Given the description of an element on the screen output the (x, y) to click on. 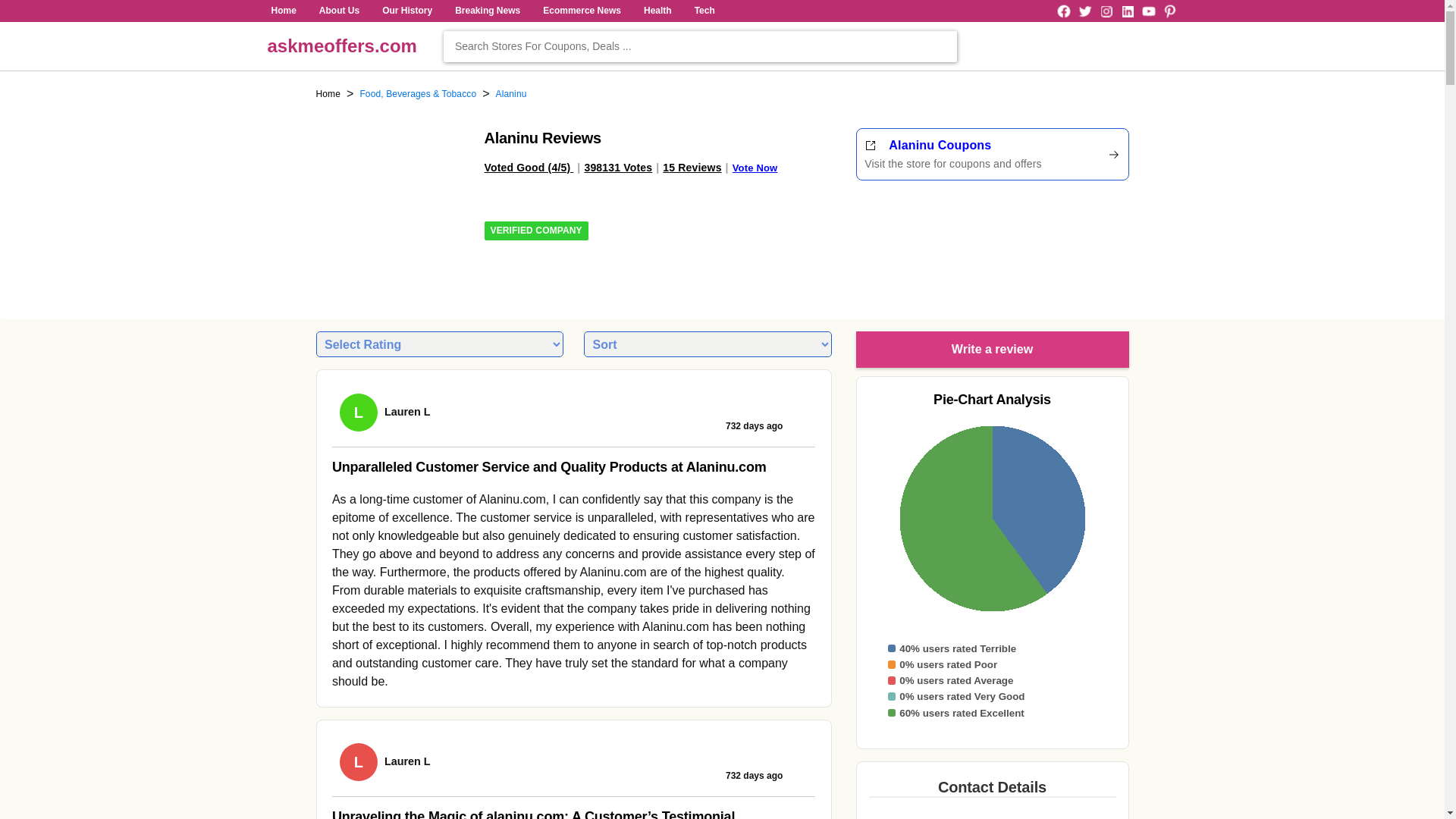
Health (657, 10)
Twitter Username (1084, 11)
LinkedIn (991, 154)
Twitter Username (1126, 11)
LinkedIn (1084, 11)
YouTube (1126, 11)
Home (1148, 11)
askmeoffers.com (282, 10)
Health (341, 46)
Breaking News (657, 10)
Breaking News (487, 10)
Ecommerce News (487, 10)
Pinterest (581, 10)
Our History (1168, 11)
